Given the description of an element on the screen output the (x, y) to click on. 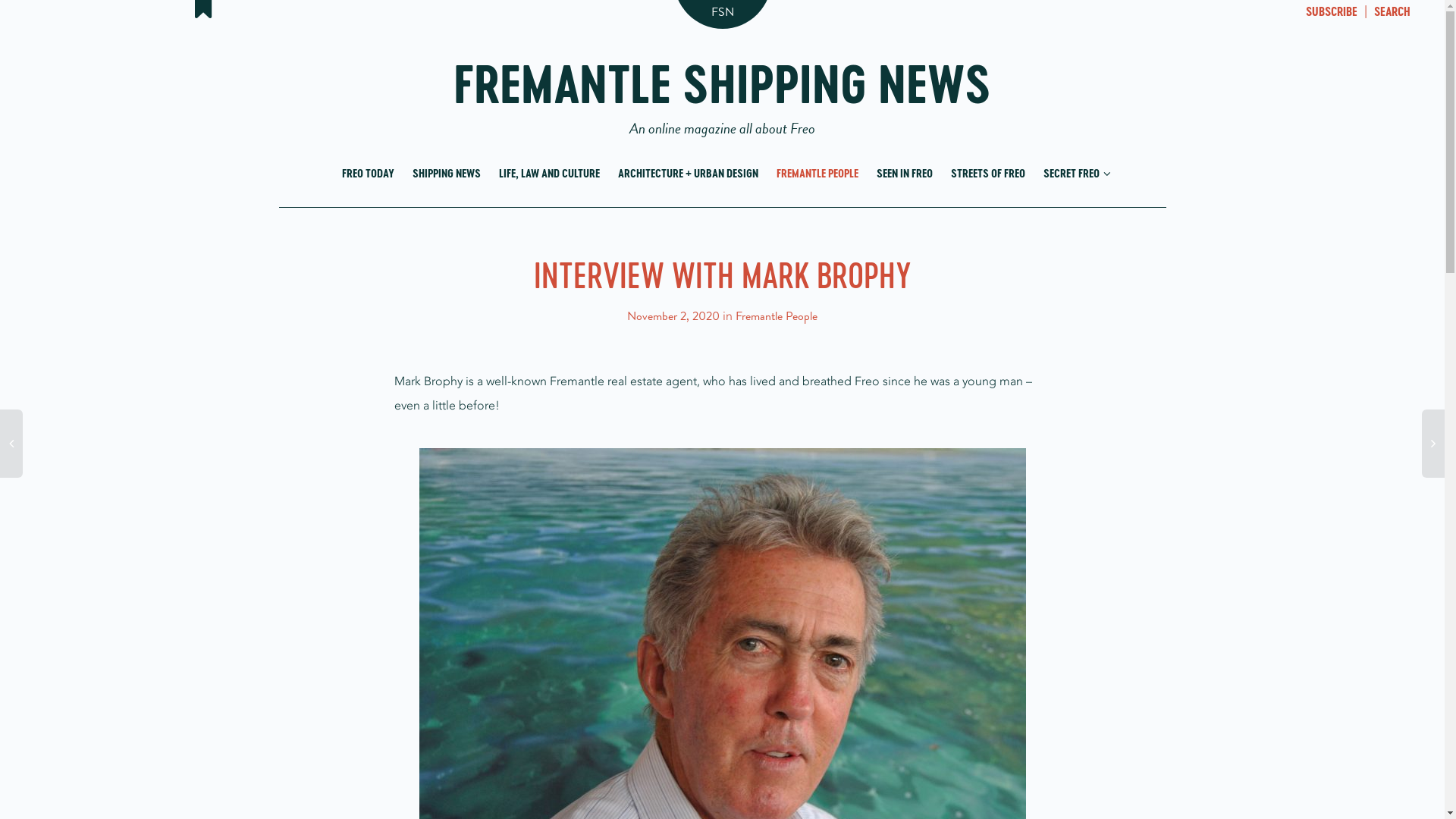
SHIPPING NEWS Element type: text (446, 174)
November 2, 2020 Element type: text (673, 316)
SEEN IN FREO Element type: text (904, 174)
SECRET FREO Element type: text (1073, 174)
LIFE, LAW AND CULTURE Element type: text (548, 174)
FREMANTLE SHIPPING NEWS Element type: text (722, 96)
ARCHITECTURE + URBAN DESIGN Element type: text (687, 174)
Fremantle People Element type: text (776, 316)
STREETS OF FREO Element type: text (987, 174)
FREO TODAY Element type: text (367, 174)
SEARCH Element type: text (1392, 12)
SUBSCRIBE Element type: text (1331, 12)
FREMANTLE PEOPLE Element type: text (817, 174)
